Given the description of an element on the screen output the (x, y) to click on. 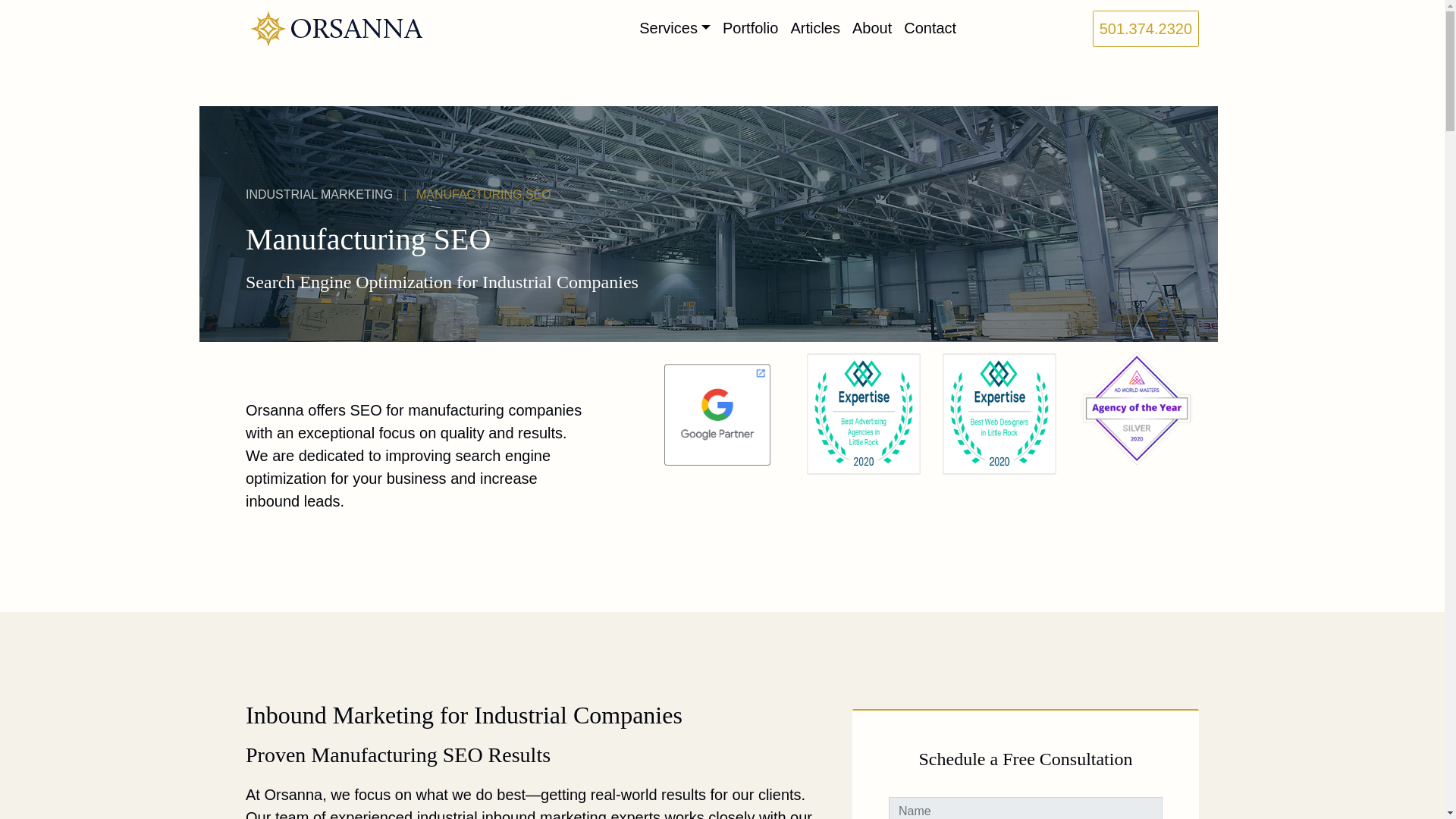
Services (674, 27)
Articles (814, 27)
INDUSTRIAL MARKETING (319, 194)
501.374.2320 (1145, 28)
Contact (930, 27)
About (871, 27)
Portfolio (750, 27)
